Given the description of an element on the screen output the (x, y) to click on. 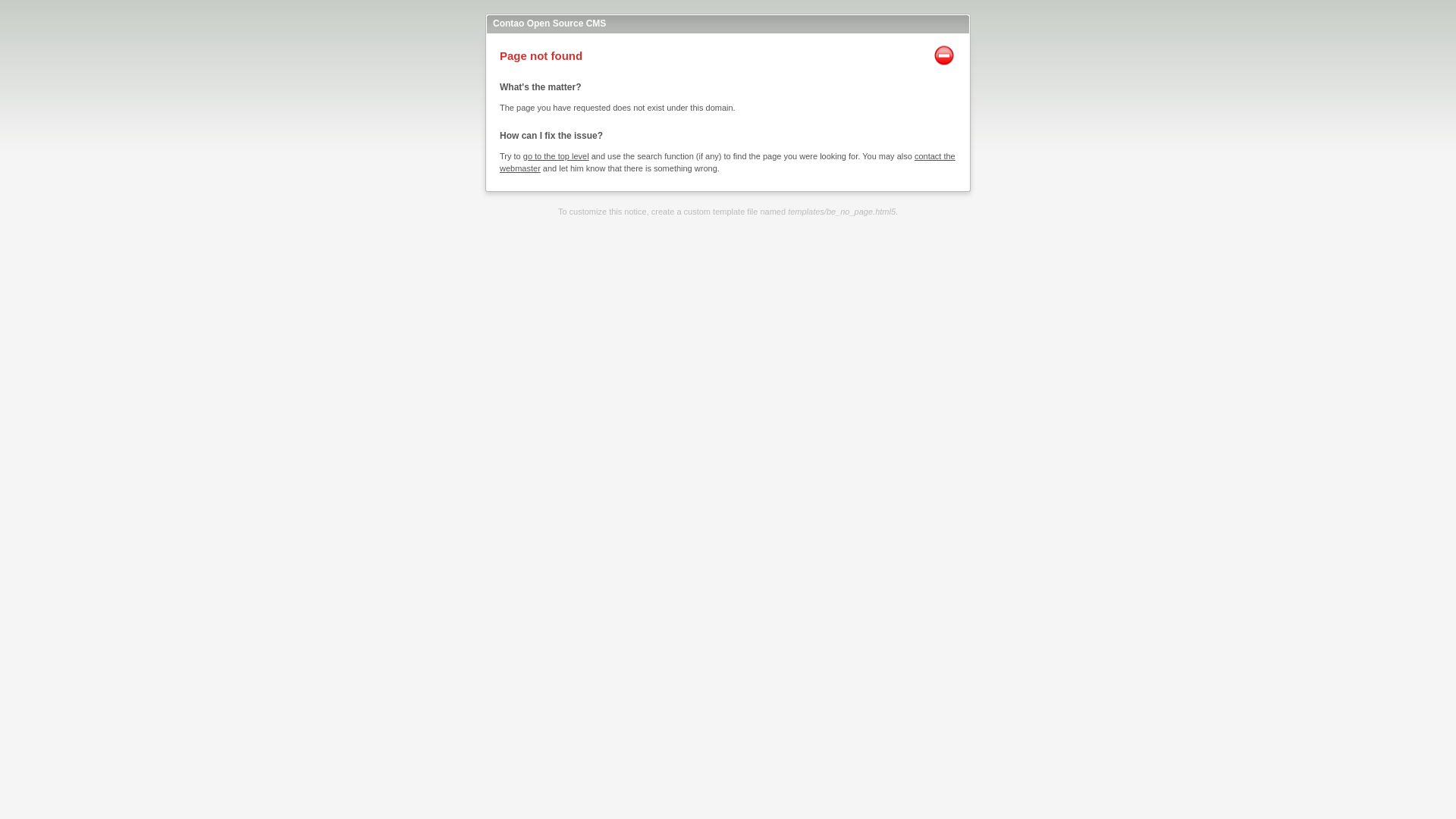
contact the webmaster (727, 162)
go to the top level (555, 155)
